Given the description of an element on the screen output the (x, y) to click on. 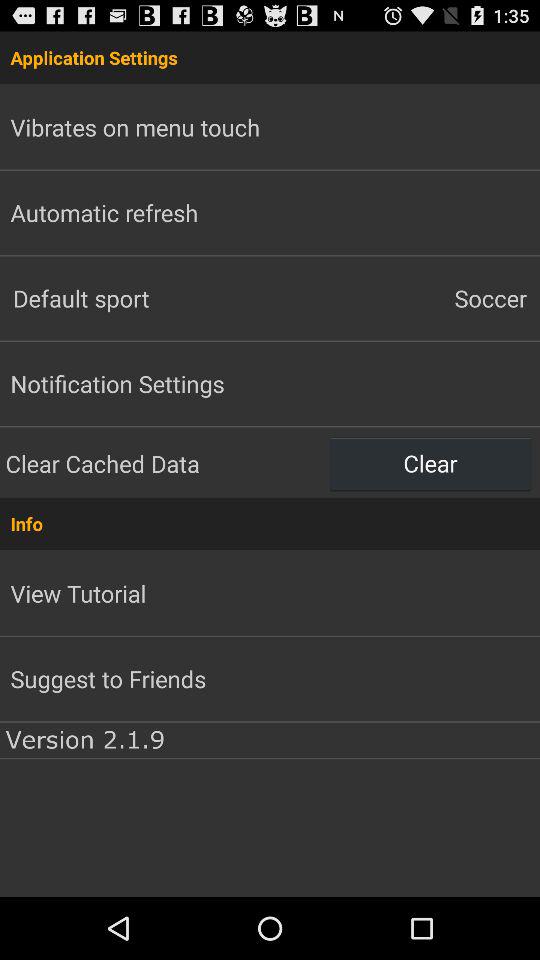
select the icon to the left of clear button (165, 463)
